Given the description of an element on the screen output the (x, y) to click on. 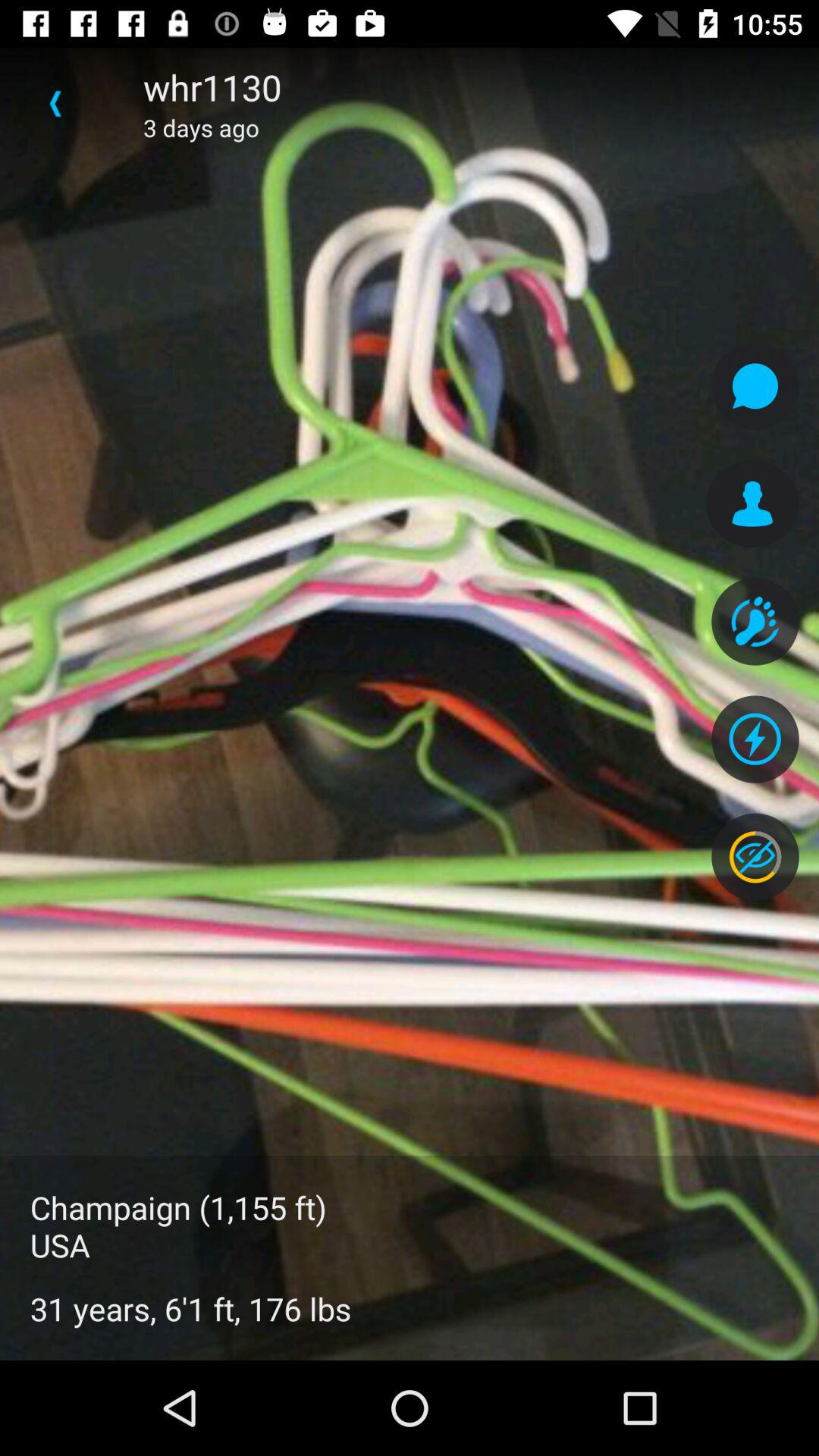
tap item above champaign 1 155 (55, 103)
